Given the description of an element on the screen output the (x, y) to click on. 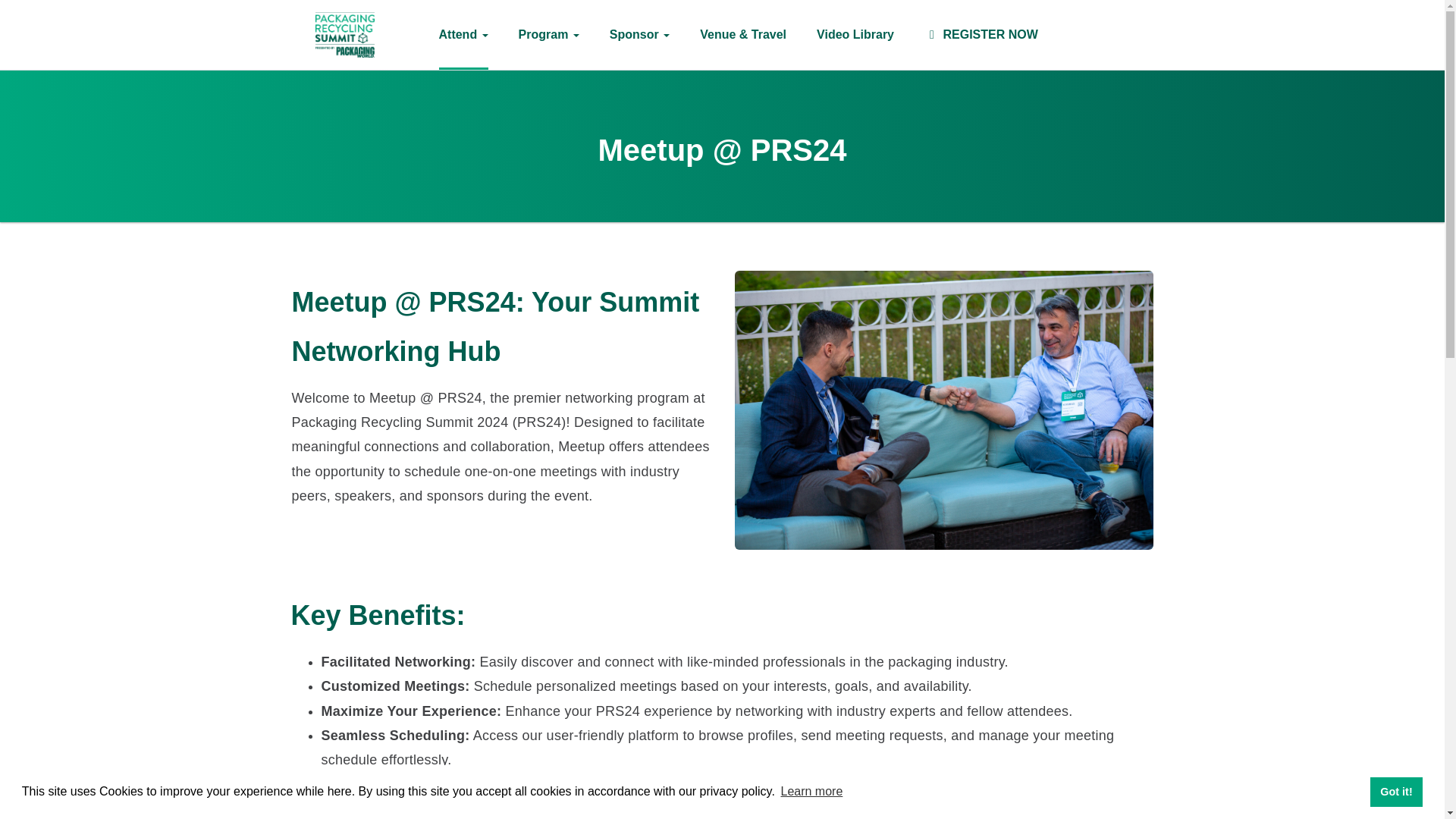
Program (548, 34)
Video Library (854, 34)
REGISTER NOW (981, 34)
Attend (462, 34)
Learn more (810, 791)
Sponsor (639, 34)
Got it! (1396, 791)
